Given the description of an element on the screen output the (x, y) to click on. 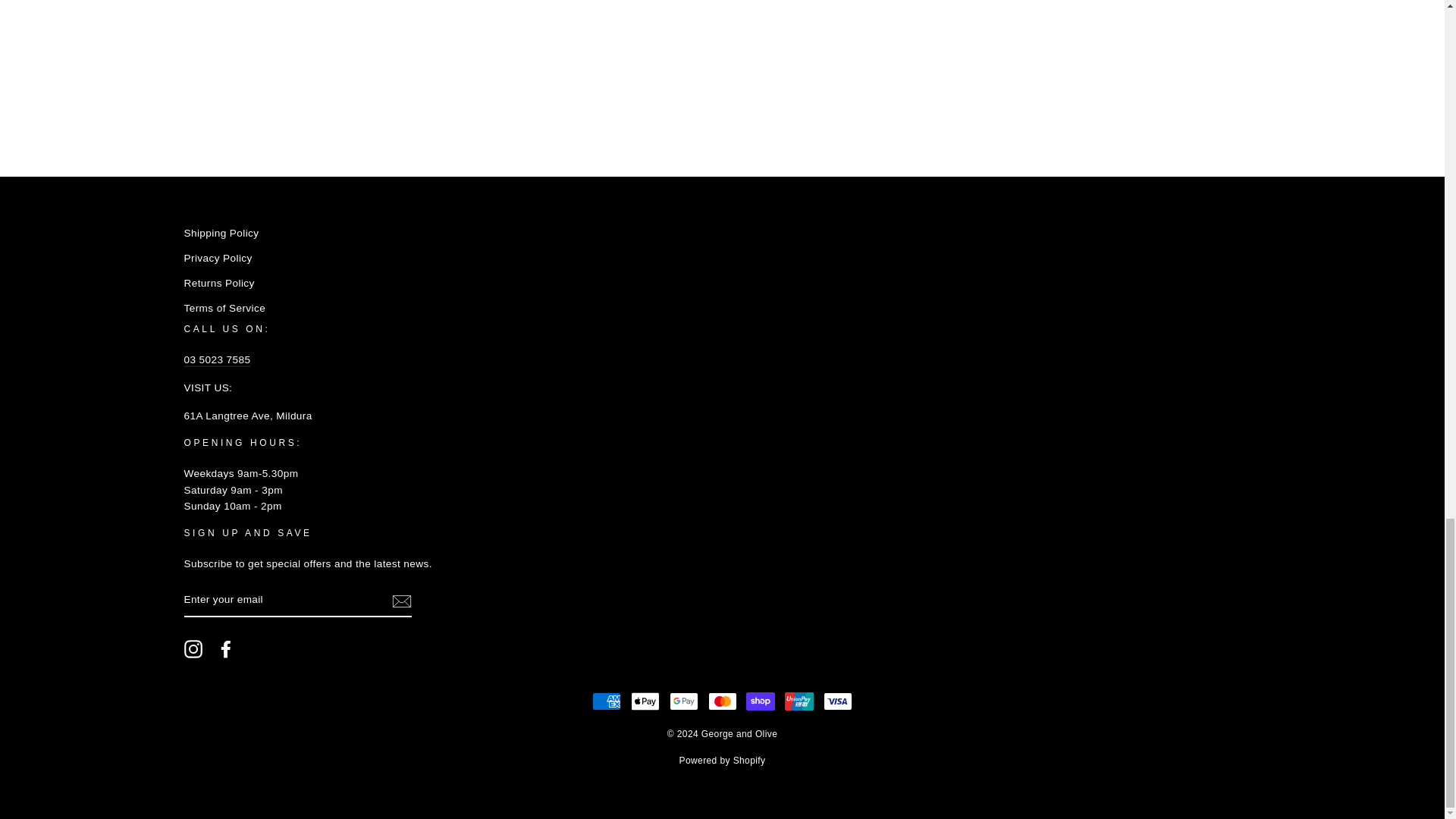
Apple Pay (644, 701)
Union Pay (798, 701)
Shop Pay (759, 701)
Google Pay (683, 701)
George and Olive on Facebook (225, 648)
American Express (606, 701)
Visa (837, 701)
Mastercard (721, 701)
George and Olive on Instagram (192, 648)
tel:0350237585 (216, 359)
